Given the description of an element on the screen output the (x, y) to click on. 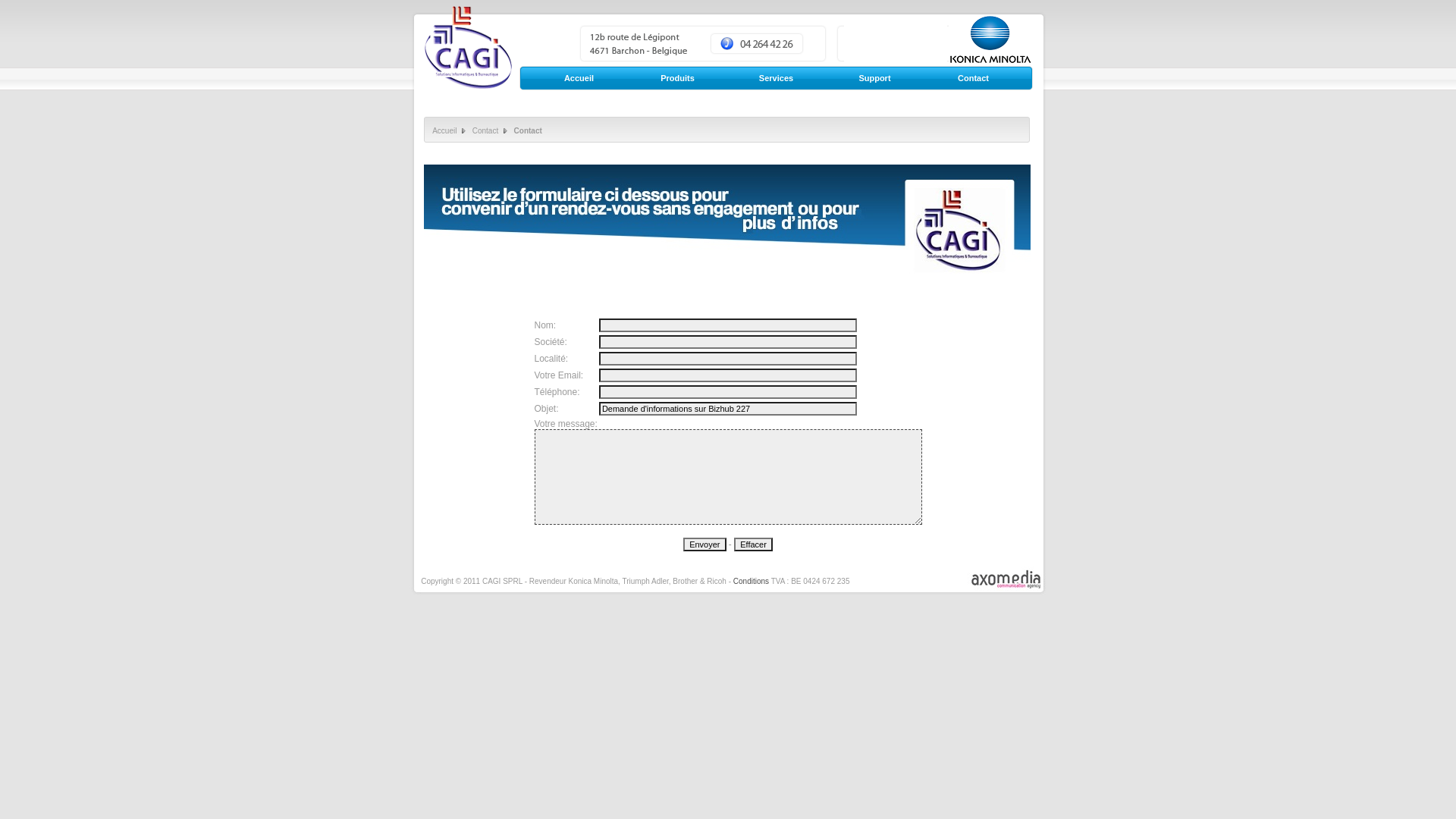
Produits Element type: text (676, 77)
Contact Element type: text (972, 77)
Services Element type: text (775, 77)
Effacer Element type: text (753, 544)
Conditions Element type: text (750, 581)
Accueil Element type: text (578, 77)
Envoyer Element type: text (704, 544)
Support Element type: text (874, 77)
